Given the description of an element on the screen output the (x, y) to click on. 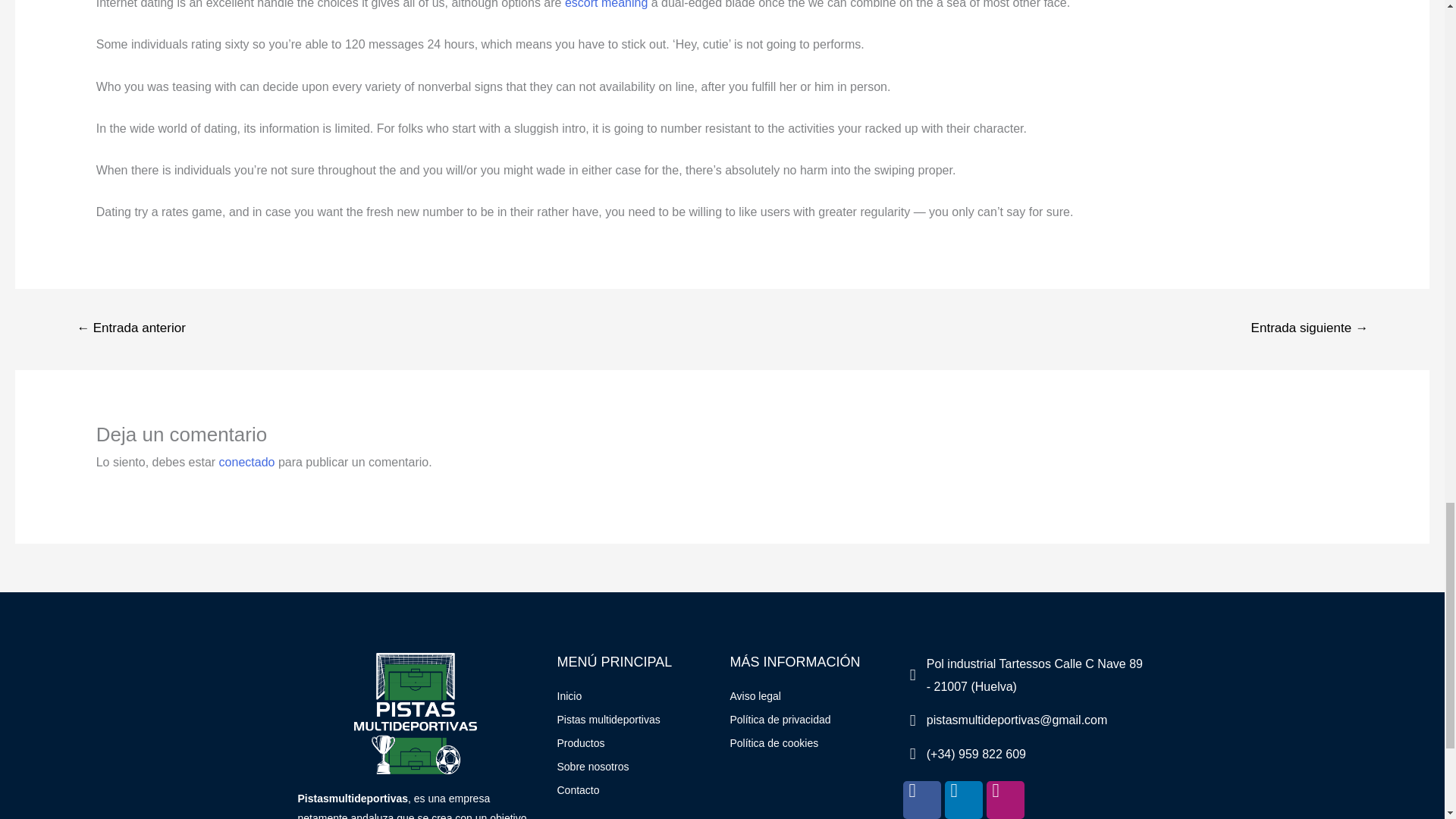
Sobre nosotros (635, 767)
Inicio (635, 696)
Pistas multideportivas (635, 720)
escort meaning (605, 4)
Contacto (635, 790)
conectado (247, 461)
Productos (635, 743)
Aviso legal (807, 696)
